Given the description of an element on the screen output the (x, y) to click on. 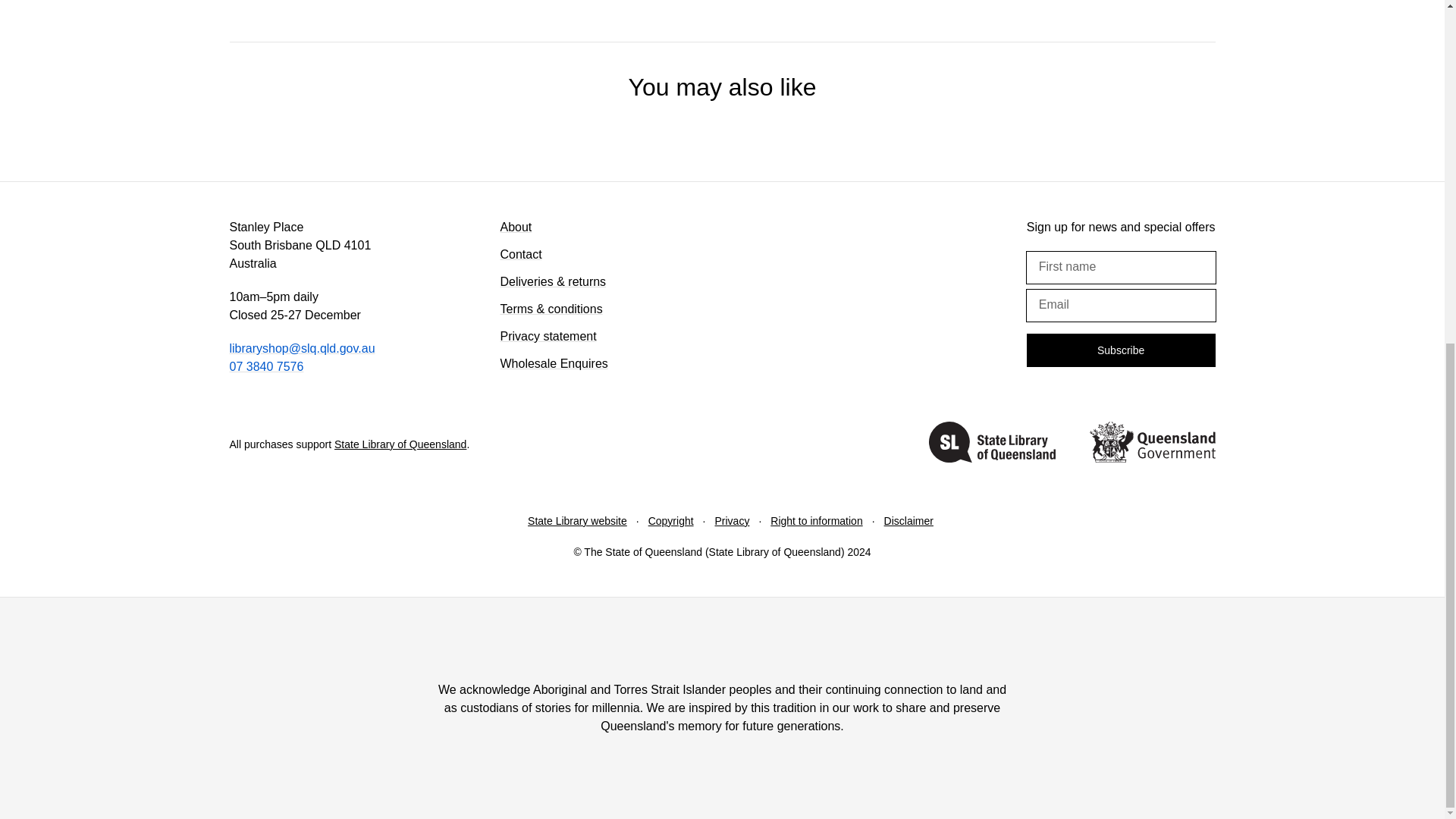
Go to Queensland State Library homepage (992, 444)
Go to Queensland Government homepage (1151, 444)
tel:07 3840 7576 (265, 366)
